Given the description of an element on the screen output the (x, y) to click on. 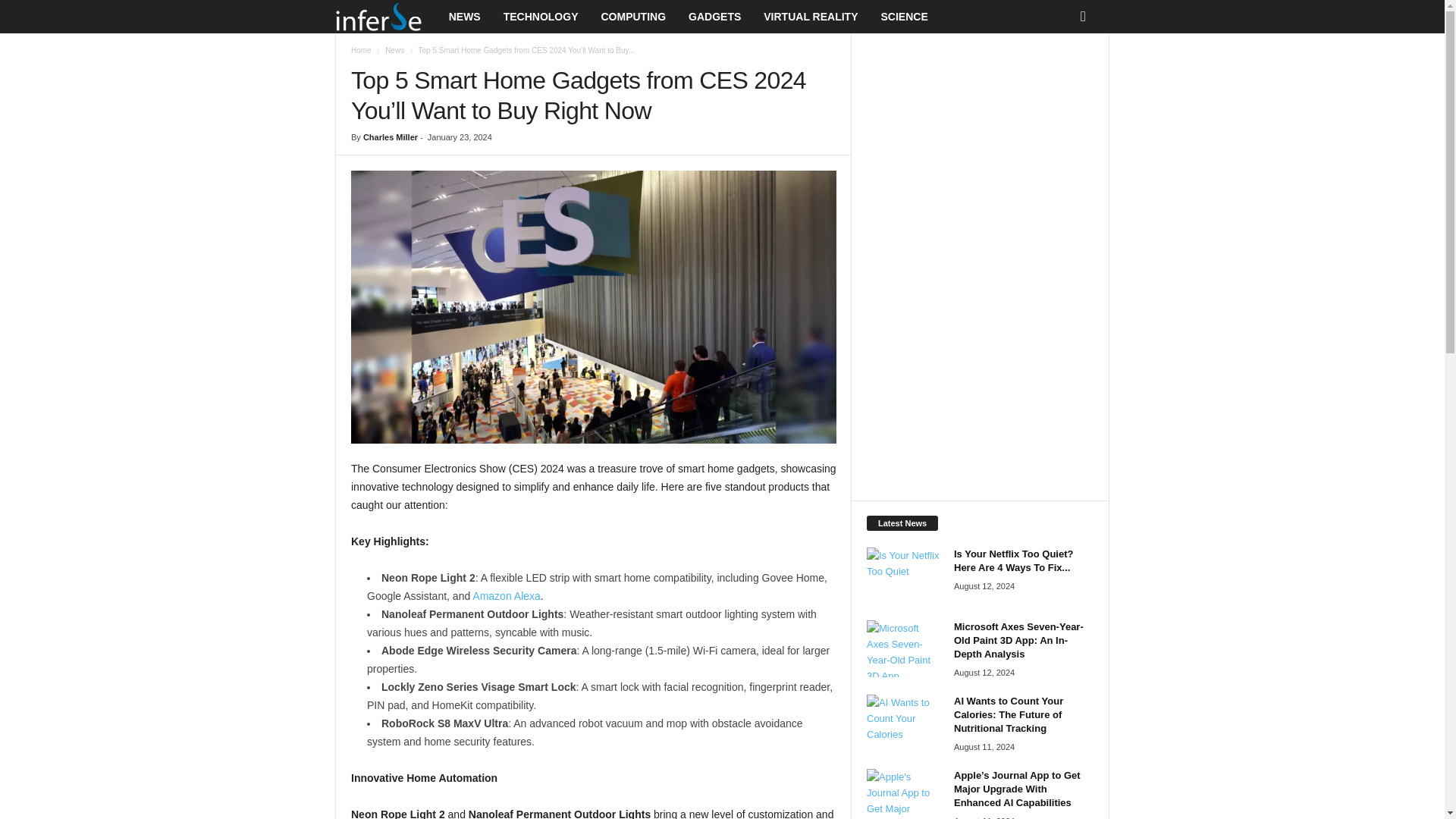
NEWS (465, 16)
SCIENCE (904, 16)
GADGETS (714, 16)
COMPUTING (633, 16)
CES 2024 (592, 306)
VIRTUAL REALITY (810, 16)
News (394, 49)
Amazon Alexa (505, 595)
TECHNOLOGY (540, 16)
View all posts in News (394, 49)
